Given the description of an element on the screen output the (x, y) to click on. 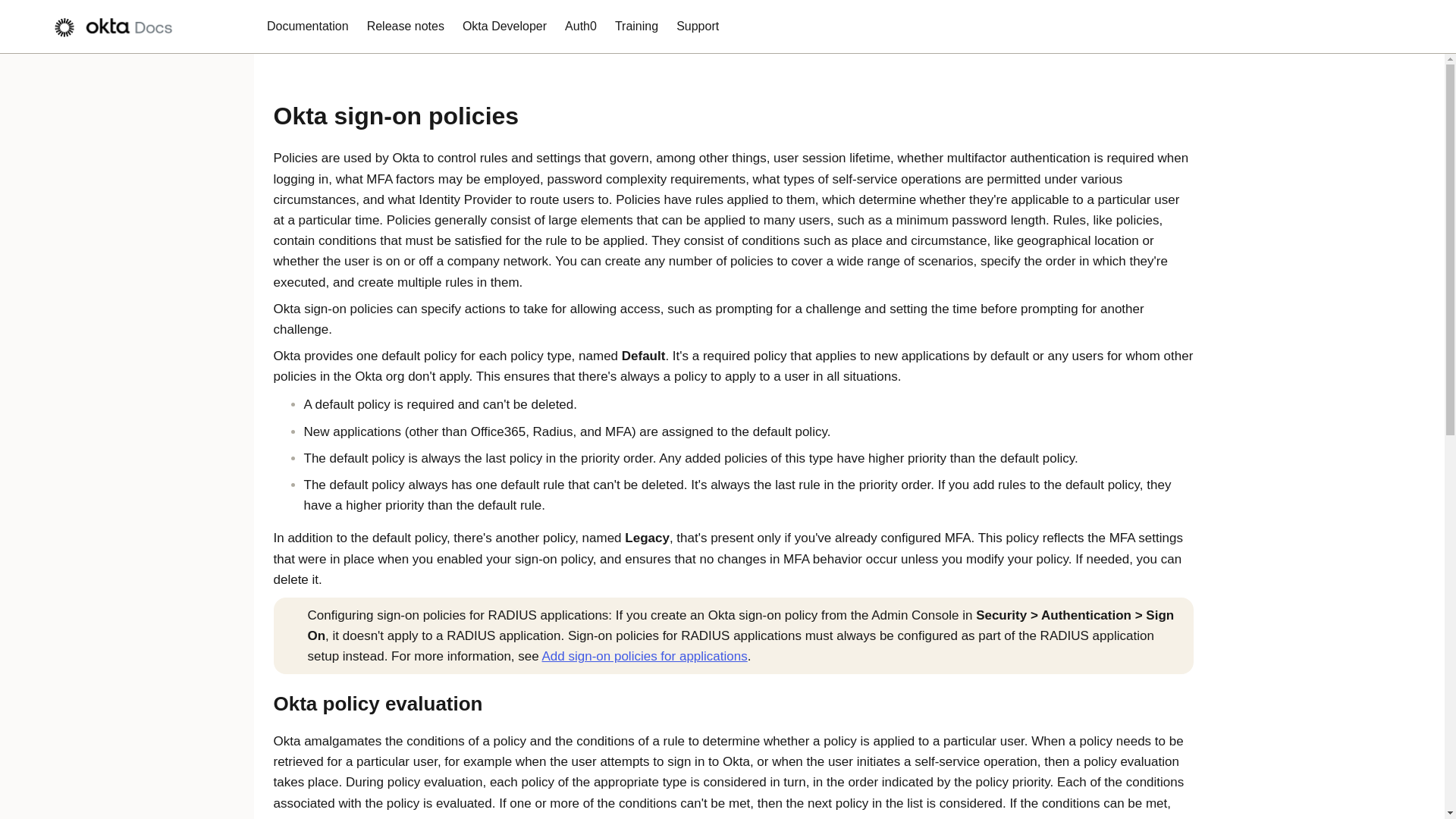
Training (635, 26)
Change language (1398, 26)
Auth0 (580, 26)
Okta Developer (504, 26)
Okta Docs (120, 27)
Release notes (405, 26)
Support (697, 26)
Add sign-on policies for applications (643, 656)
Label: Okta Classic Engine content (1359, 27)
Documentation (307, 26)
